Given the description of an element on the screen output the (x, y) to click on. 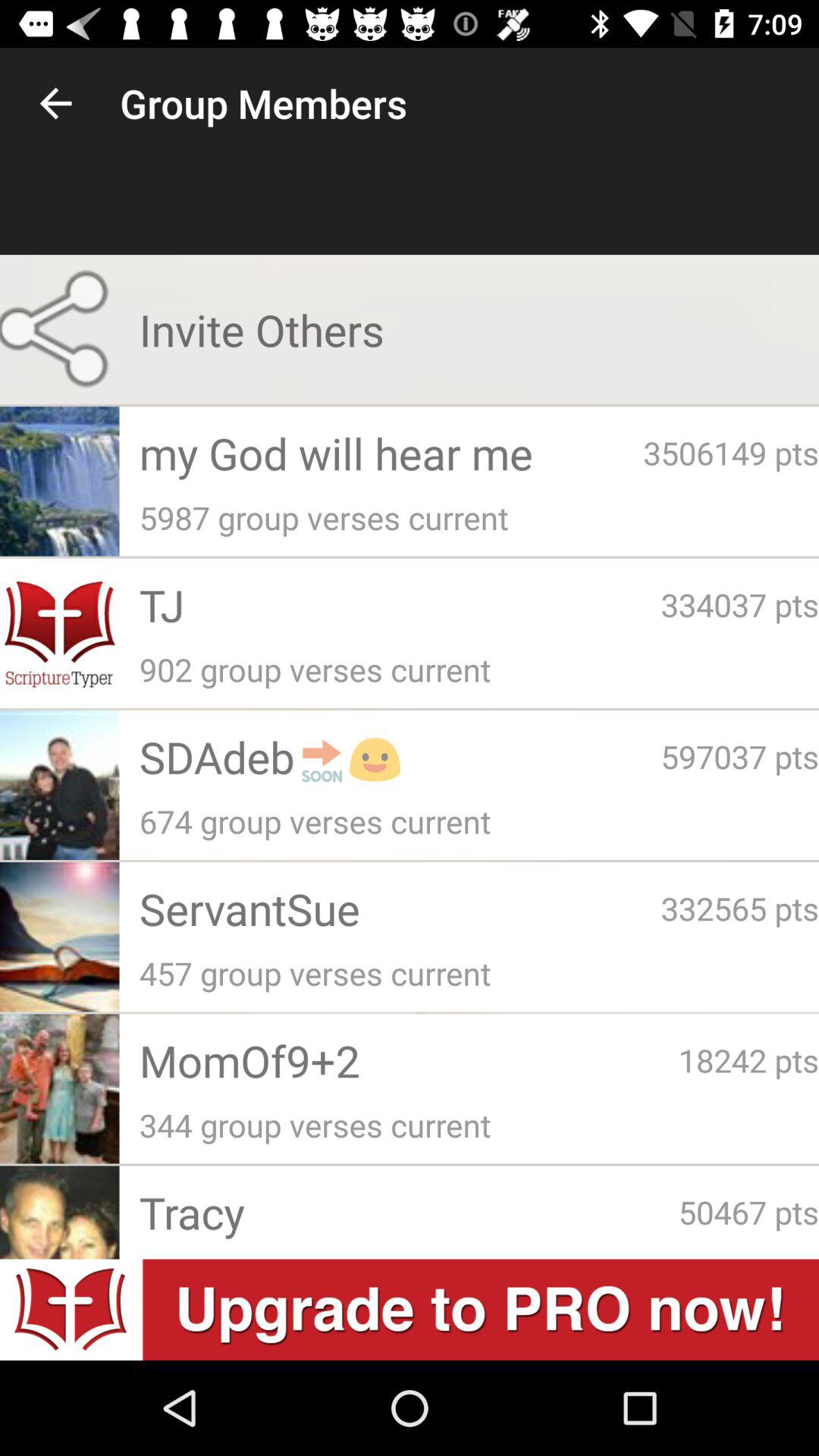
tap icon above the 674 group verses (399, 756)
